Given the description of an element on the screen output the (x, y) to click on. 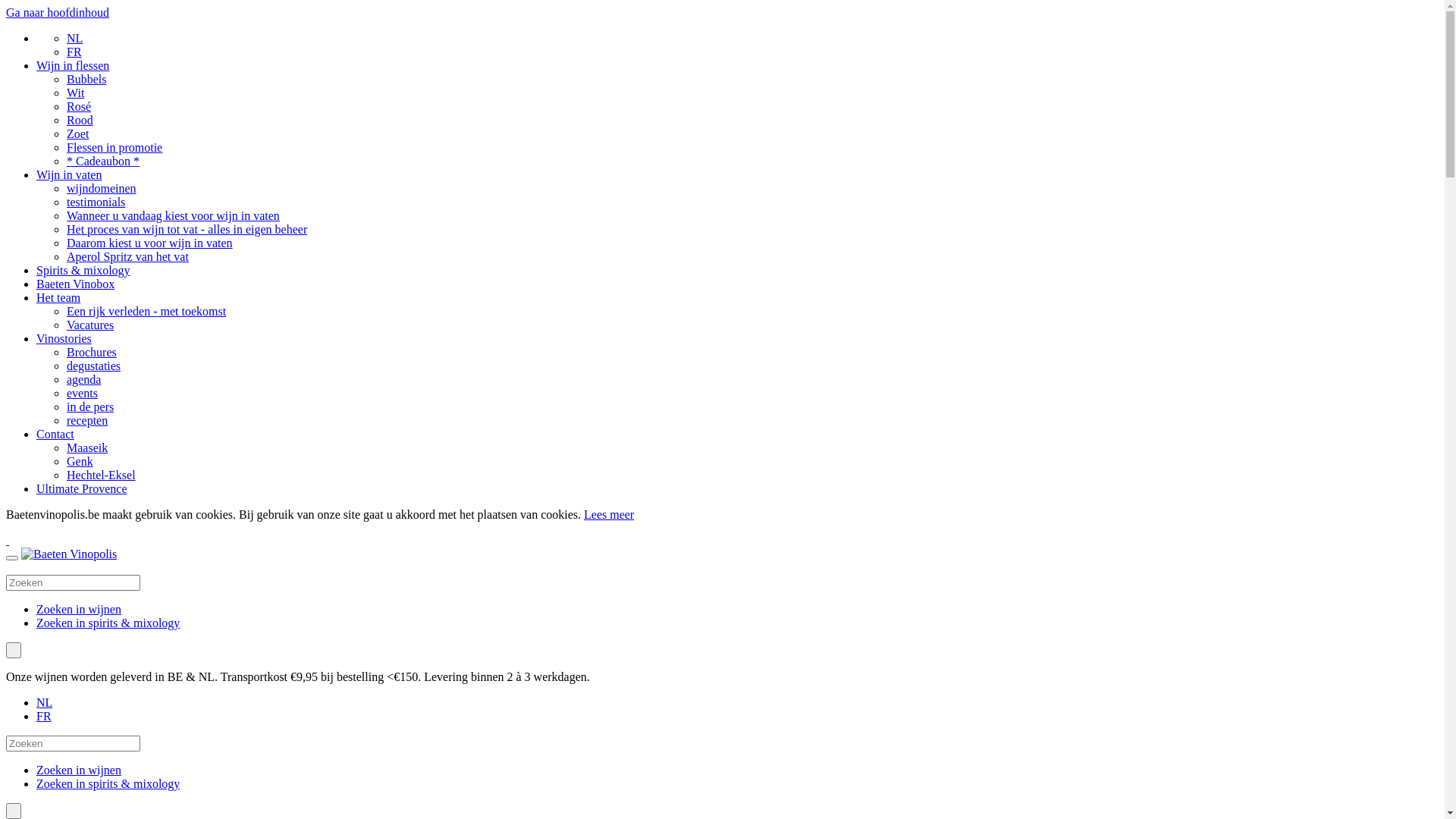
degustaties Element type: text (93, 365)
Het proces van wijn tot vat - alles in eigen beheer Element type: text (186, 228)
Hechtel-Eksel Element type: text (100, 474)
Bubbels Element type: text (86, 78)
Brochures Element type: text (91, 351)
Rood Element type: text (79, 119)
  Element type: text (13, 650)
Aperol Spritz van het vat Element type: text (127, 256)
Baeten Vinobox Element type: text (75, 283)
Flessen in promotie Element type: text (114, 147)
Zoeken in spirits & mixology Element type: text (107, 622)
Lees meer Element type: text (608, 514)
Contact Element type: text (55, 433)
Wijn in vaten Element type: text (68, 174)
Genk Element type: text (79, 461)
Wit Element type: text (75, 92)
Een rijk verleden - met toekomst Element type: text (145, 310)
wijndomeinen Element type: text (101, 188)
Het team Element type: text (58, 297)
Maaseik Element type: text (86, 447)
Wanneer u vandaag kiest voor wijn in vaten Element type: text (172, 215)
Zoeken in spirits & mixology Element type: text (107, 783)
in de pers Element type: text (89, 406)
NL Element type: text (44, 702)
Daarom kiest u voor wijn in vaten Element type: text (149, 242)
Zoeken in wijnen Element type: text (78, 608)
* Cadeaubon * Element type: text (102, 160)
events Element type: text (81, 392)
FR Element type: text (73, 51)
Zoeken in wijnen Element type: text (78, 769)
FR Element type: text (43, 715)
Wijn in flessen Element type: text (72, 65)
recepten Element type: text (86, 420)
NL Element type: text (74, 37)
Zoet Element type: text (77, 133)
Spirits & mixology Element type: text (83, 269)
Ultimate Provence Element type: text (81, 488)
  Element type: text (7, 539)
Ga naar hoofdinhoud Element type: text (57, 12)
Vinostories Element type: text (63, 338)
Vacatures Element type: text (89, 324)
agenda Element type: text (83, 379)
testimonials Element type: text (95, 201)
